Given the description of an element on the screen output the (x, y) to click on. 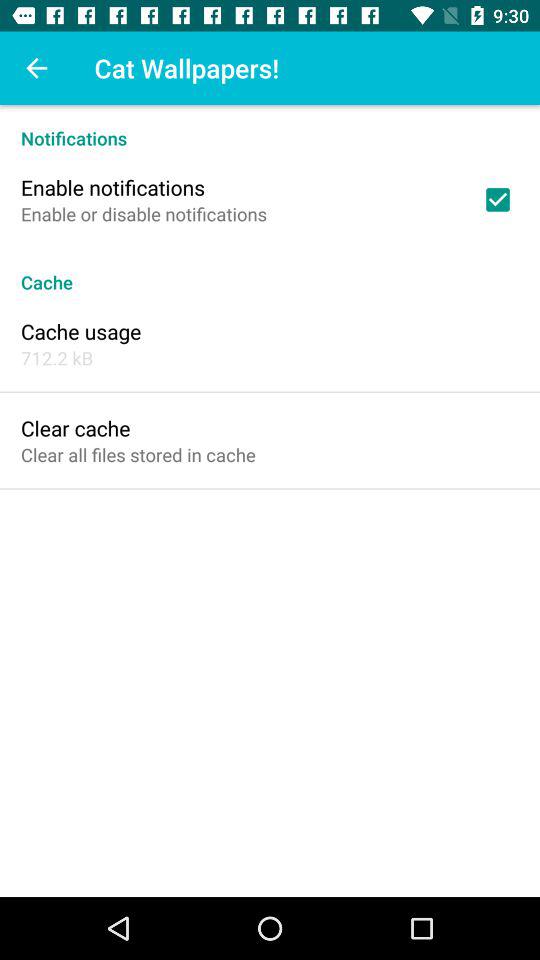
scroll until 712.2 kb icon (57, 357)
